Given the description of an element on the screen output the (x, y) to click on. 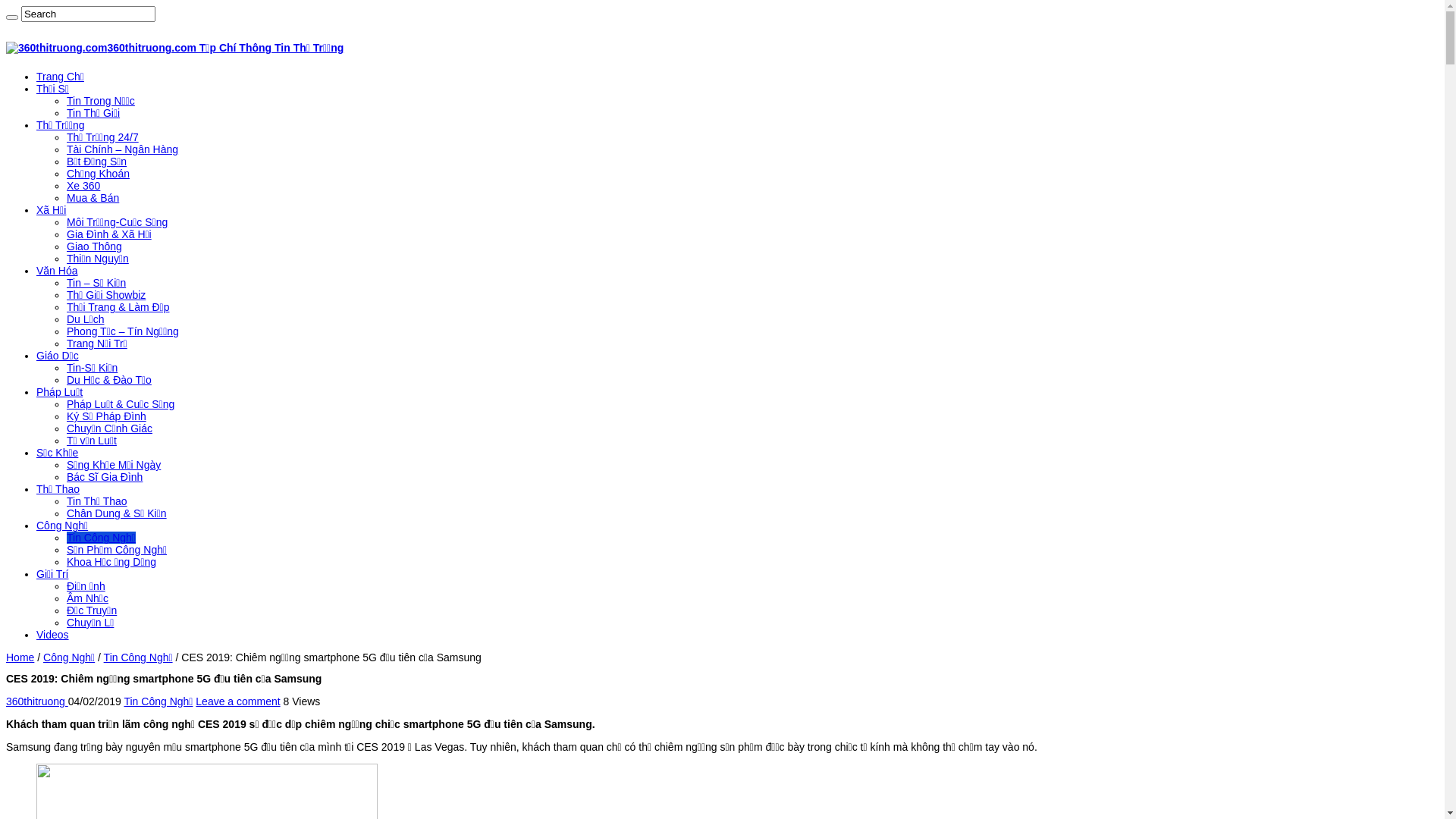
Videos Element type: text (52, 634)
Leave a comment Element type: text (237, 701)
Xe 360 Element type: text (83, 185)
360thitruong Element type: text (37, 701)
Search Element type: text (12, 17)
Home Element type: text (20, 657)
